Given the description of an element on the screen output the (x, y) to click on. 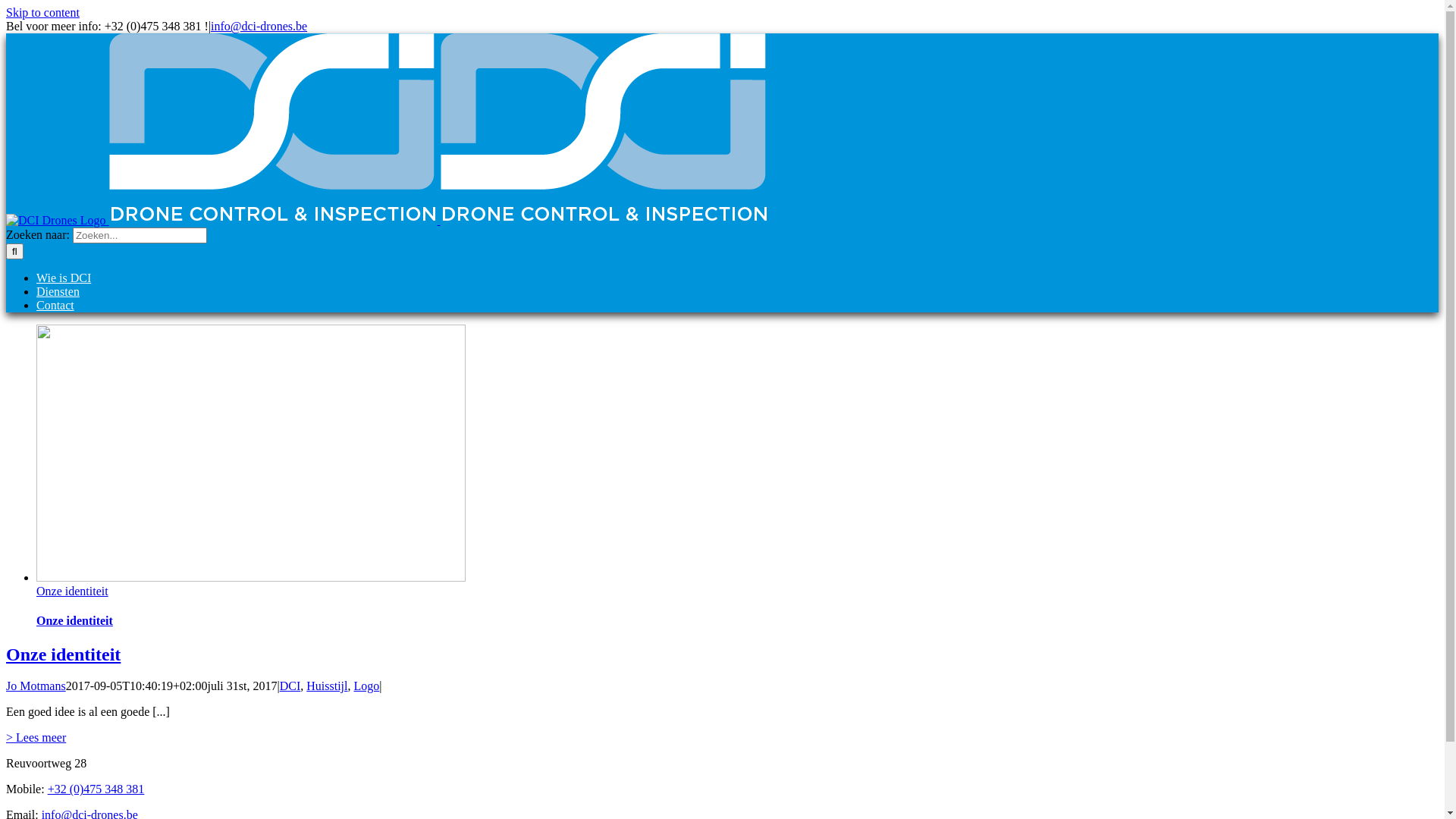
Wie is DCI Element type: text (63, 277)
Skip to content Element type: text (42, 12)
Logo Element type: text (366, 685)
Onze identiteit Element type: text (63, 654)
Jo Motmans Element type: text (35, 685)
Diensten Element type: text (57, 291)
info@dci-drones.be Element type: text (258, 25)
Onze identiteit Element type: text (74, 620)
Huisstijl Element type: text (326, 685)
> Lees meer Element type: text (35, 737)
+32 (0)475 348 381 Element type: text (95, 788)
Contact Element type: text (55, 304)
DCI Element type: text (290, 685)
Onze identiteit Element type: text (72, 590)
